Given the description of an element on the screen output the (x, y) to click on. 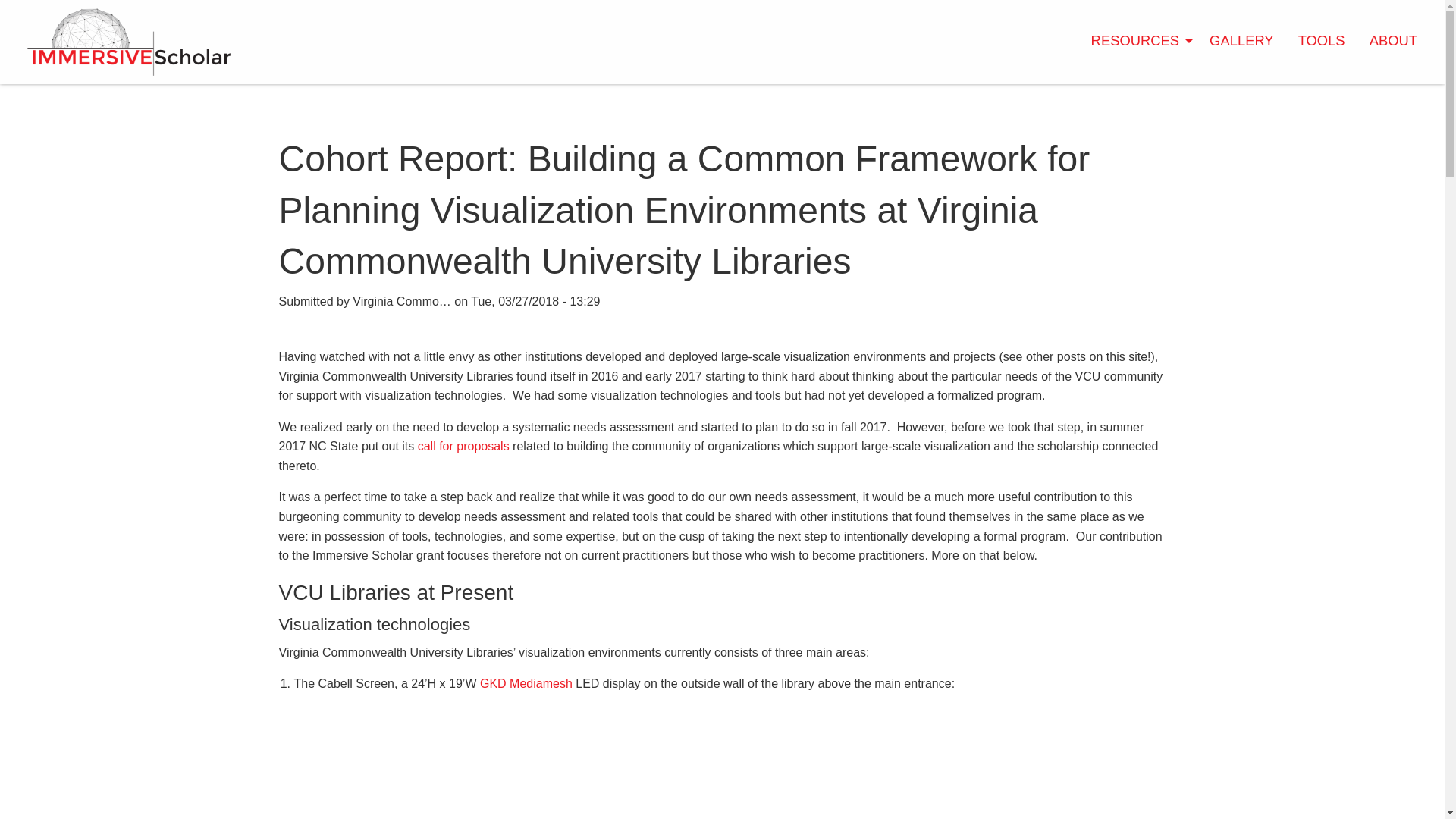
TOOLS (1320, 40)
GALLERY (1240, 40)
ABOUT (1392, 40)
RESOURCES (1138, 40)
GKD Mediamesh (526, 683)
call for proposals (463, 445)
